Given the description of an element on the screen output the (x, y) to click on. 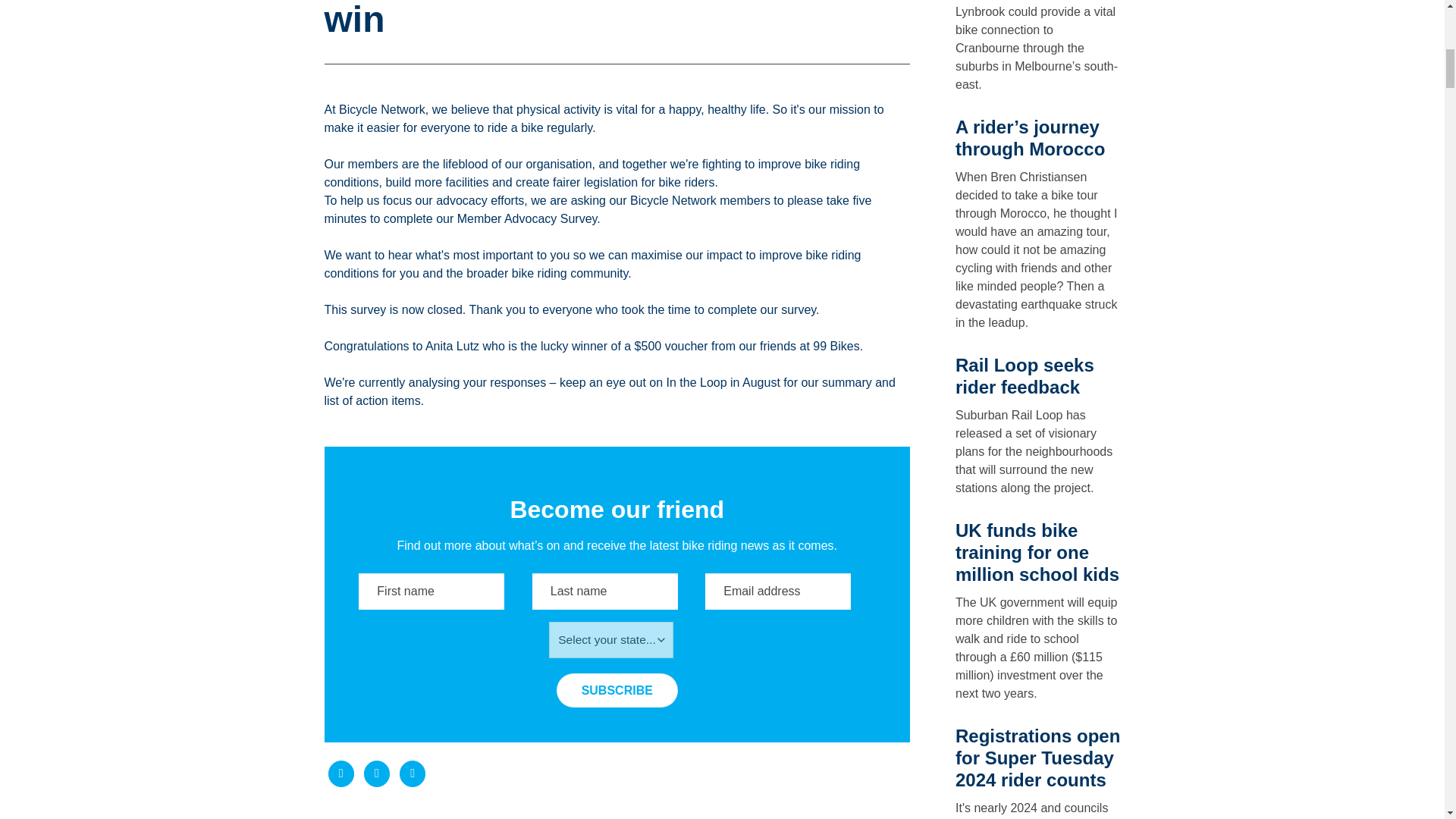
Rail Loop seeks rider feedback (1024, 375)
UK funds bike training for one million school kids (1037, 552)
SUBSCRIBE (617, 690)
Share on Twitter (377, 773)
Share on Facebook (340, 773)
Email to a Friend (412, 773)
Registrations open for Super Tuesday 2024 rider counts (1037, 757)
